Given the description of an element on the screen output the (x, y) to click on. 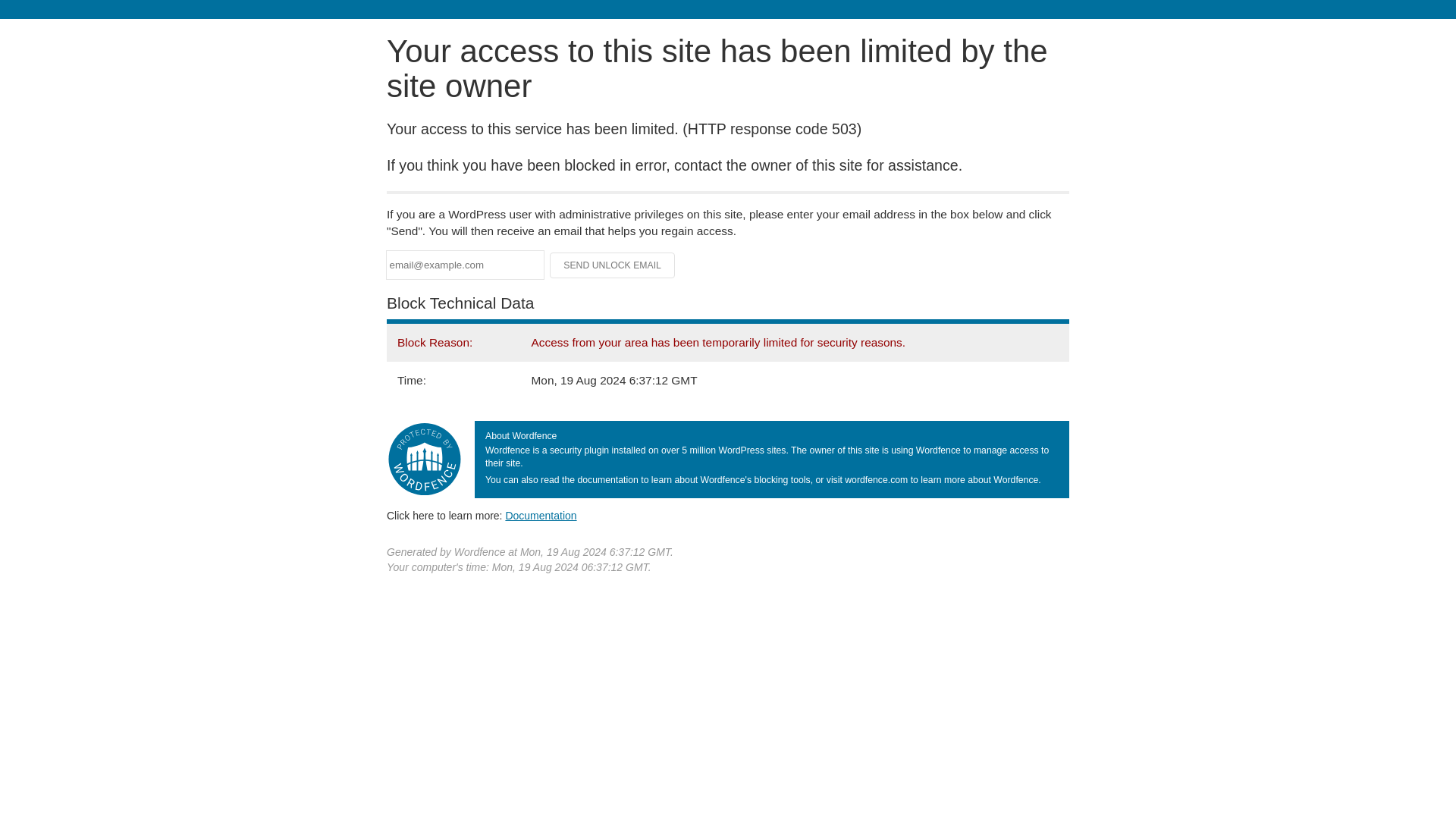
Documentation (540, 515)
Send Unlock Email (612, 265)
Send Unlock Email (612, 265)
